Given the description of an element on the screen output the (x, y) to click on. 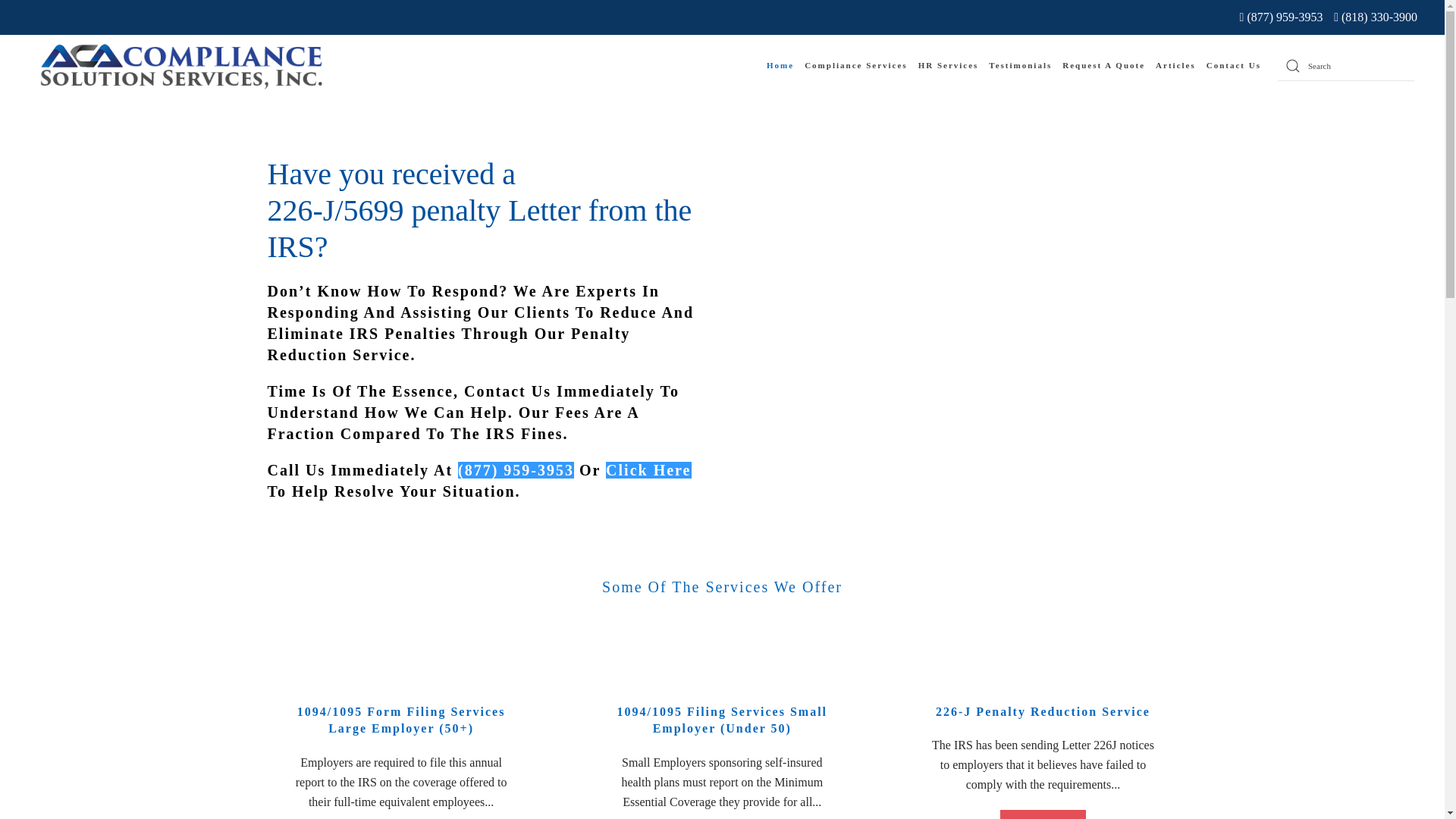
HR Services (948, 66)
Compliance Services (855, 66)
